Given the description of an element on the screen output the (x, y) to click on. 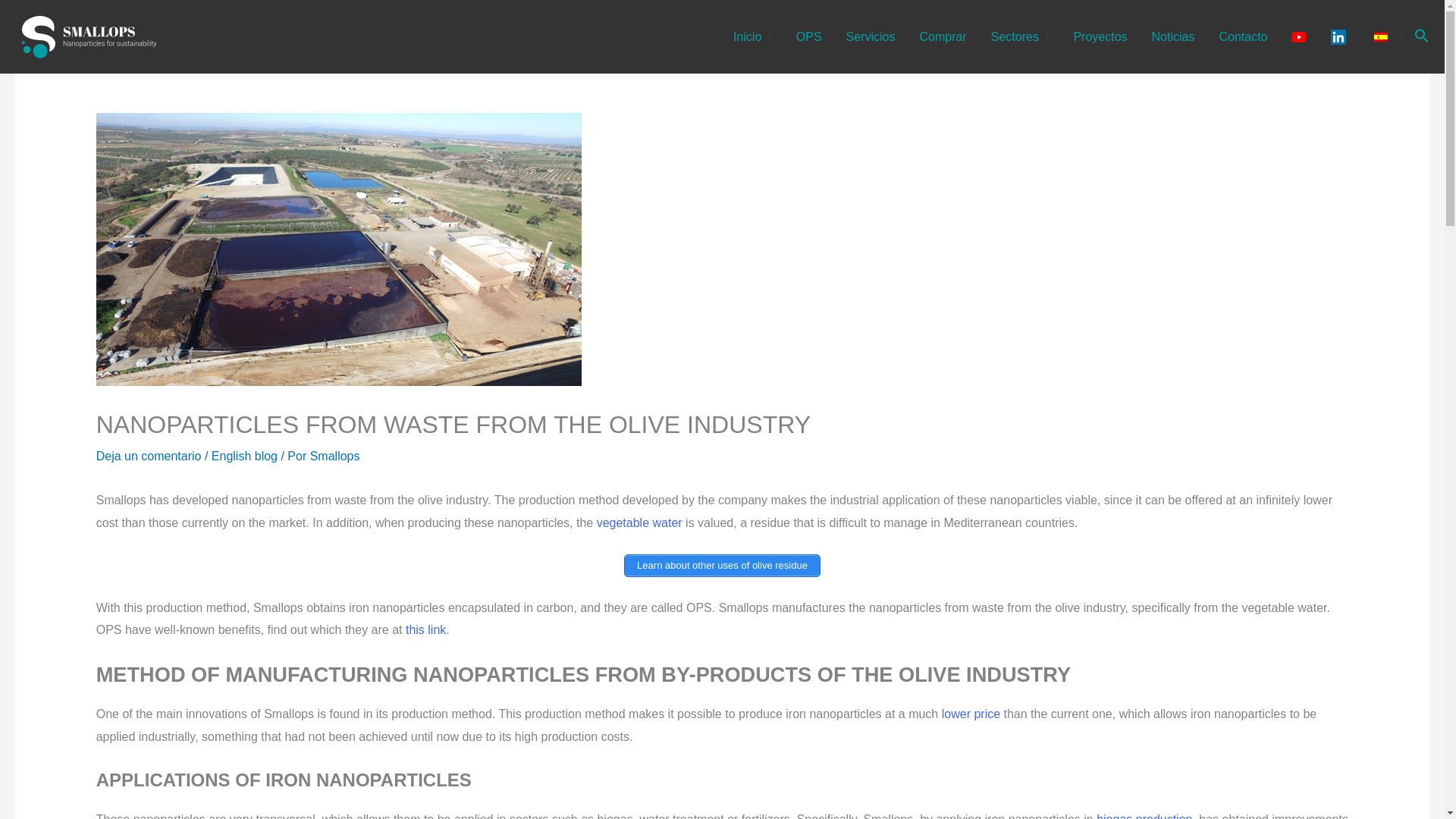
this link (425, 629)
Smallops (334, 455)
biogas production (1144, 816)
Ver todas las entradas de Smallops (334, 455)
Learn about other uses of olive residue (722, 565)
Comprar (942, 36)
Sectores (1019, 36)
vegetable water (639, 522)
Proyectos (1099, 36)
Servicios (870, 36)
Noticias (1173, 36)
Spanish (1380, 35)
Deja un comentario (149, 455)
English blog (244, 455)
Contacto (1243, 36)
